Given the description of an element on the screen output the (x, y) to click on. 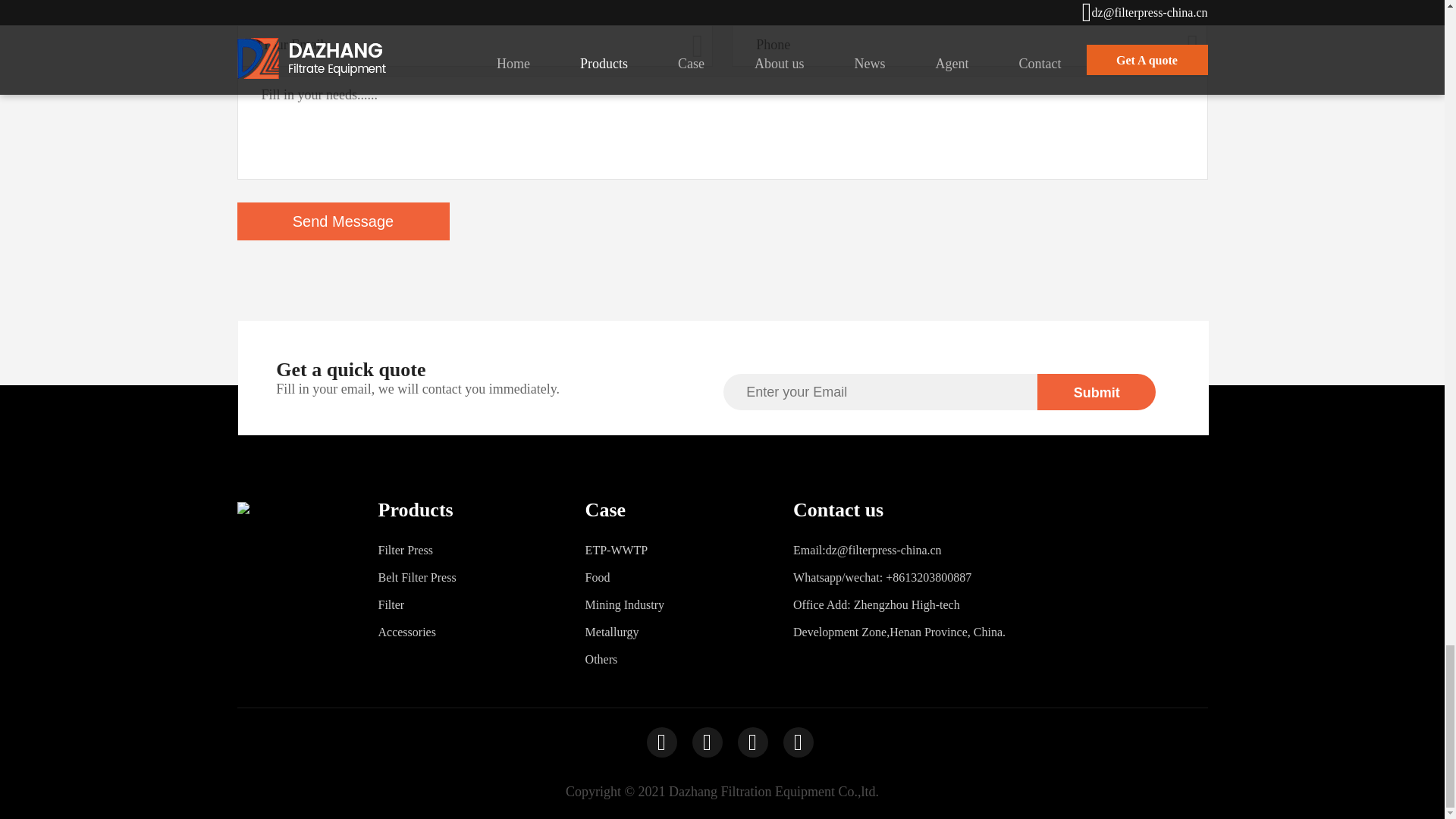
linkedin (744, 742)
youtube (699, 742)
twitter (789, 742)
facebook (653, 742)
